Given the description of an element on the screen output the (x, y) to click on. 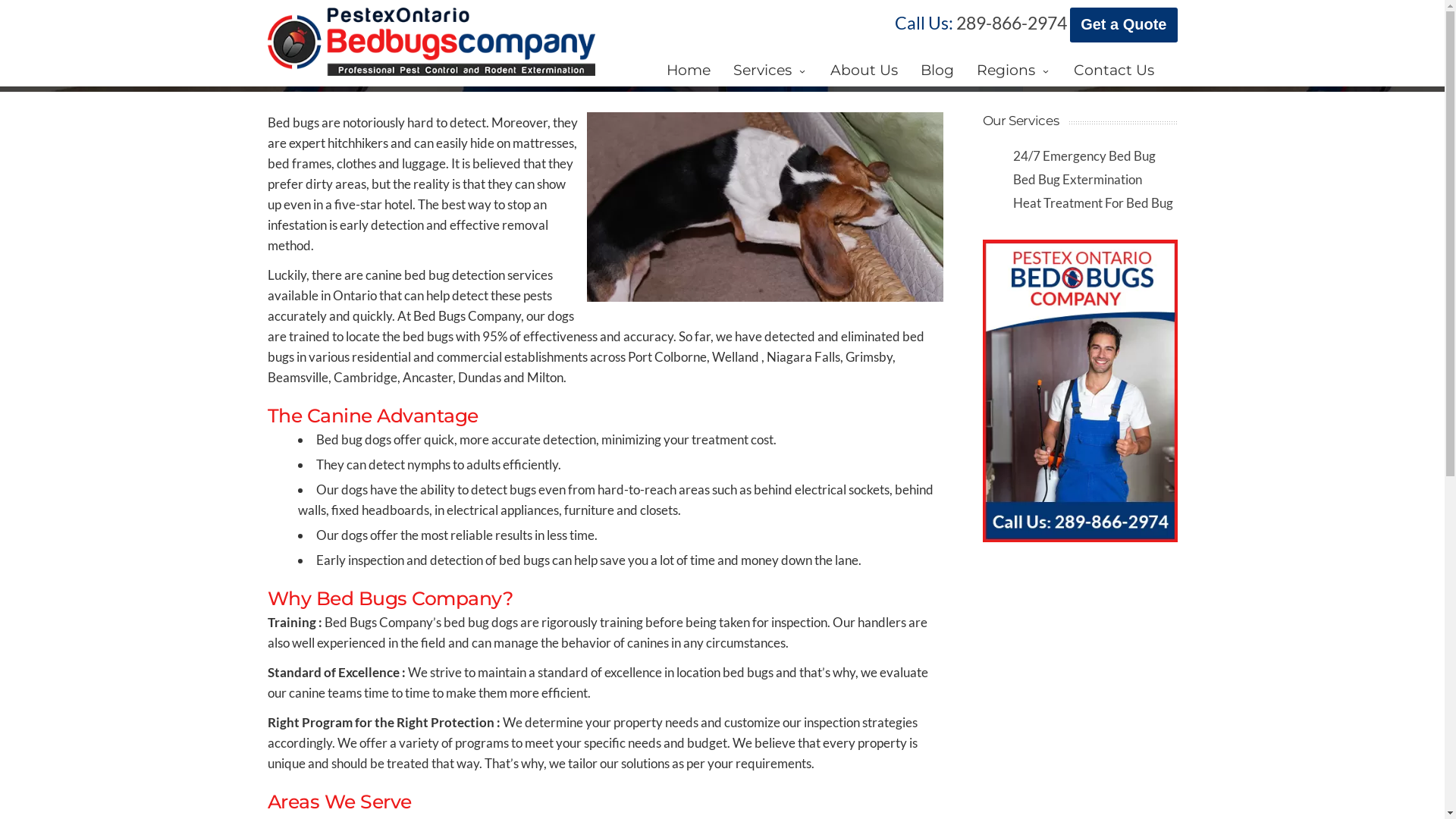
Services Element type: text (770, 60)
Get a Quote Element type: text (1123, 24)
About Us Element type: text (864, 60)
Regions Element type: text (1012, 60)
Contact Us Element type: text (1112, 60)
24/7 Emergency Bed Bug Element type: text (1084, 155)
Blog Element type: text (936, 60)
289-866-2974 Element type: text (1011, 22)
Heat Treatment For Bed Bug Element type: text (1093, 202)
Home Element type: text (688, 60)
Canine Bed Bug Detection In Ontario Element type: hover (761, 210)
Bed Bug Extermination Element type: text (1077, 179)
